Given the description of an element on the screen output the (x, y) to click on. 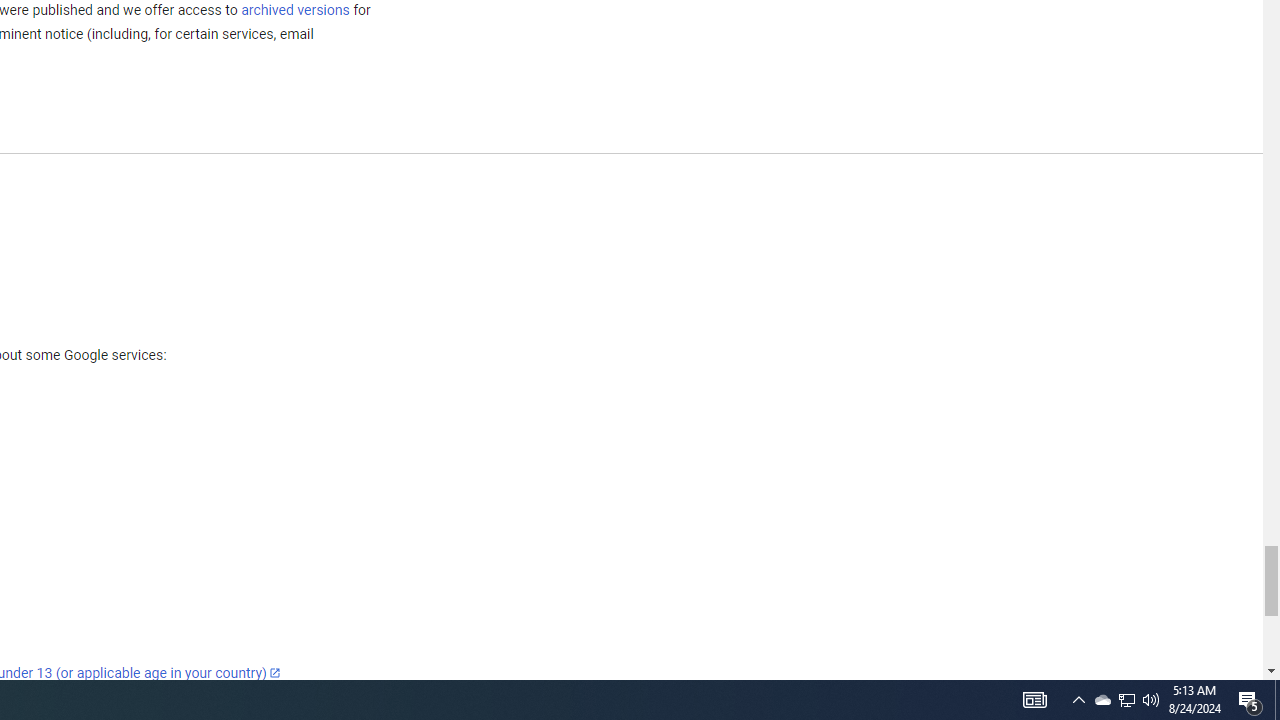
archived versions (294, 9)
